Given the description of an element on the screen output the (x, y) to click on. 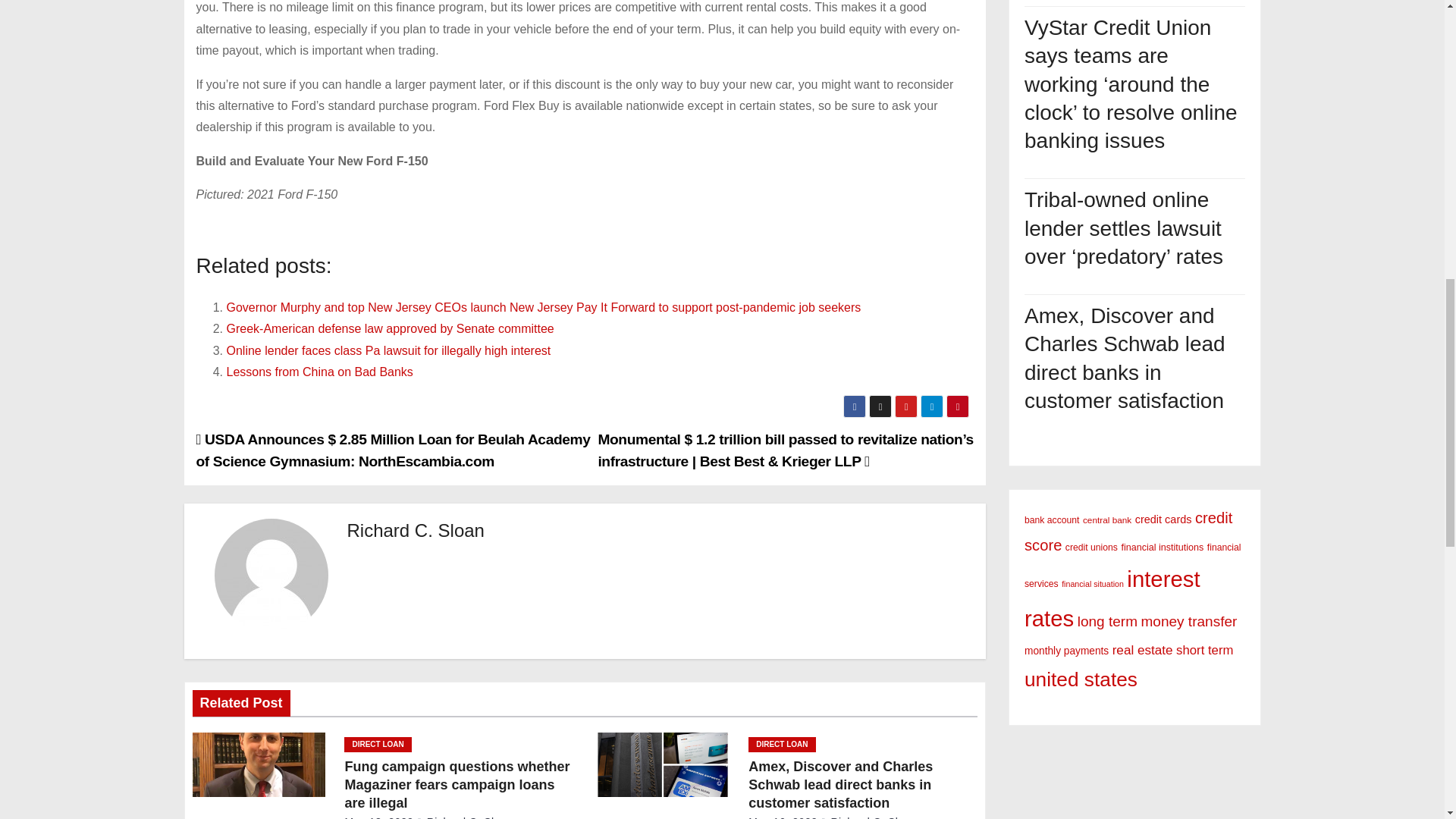
Richard C. Sloan (415, 530)
Lessons from China on Bad Banks (318, 371)
Greek-American defense law approved by Senate committee (389, 328)
Lessons from China on Bad Banks (318, 371)
Greek-American defense law approved by Senate committee (389, 328)
